Given the description of an element on the screen output the (x, y) to click on. 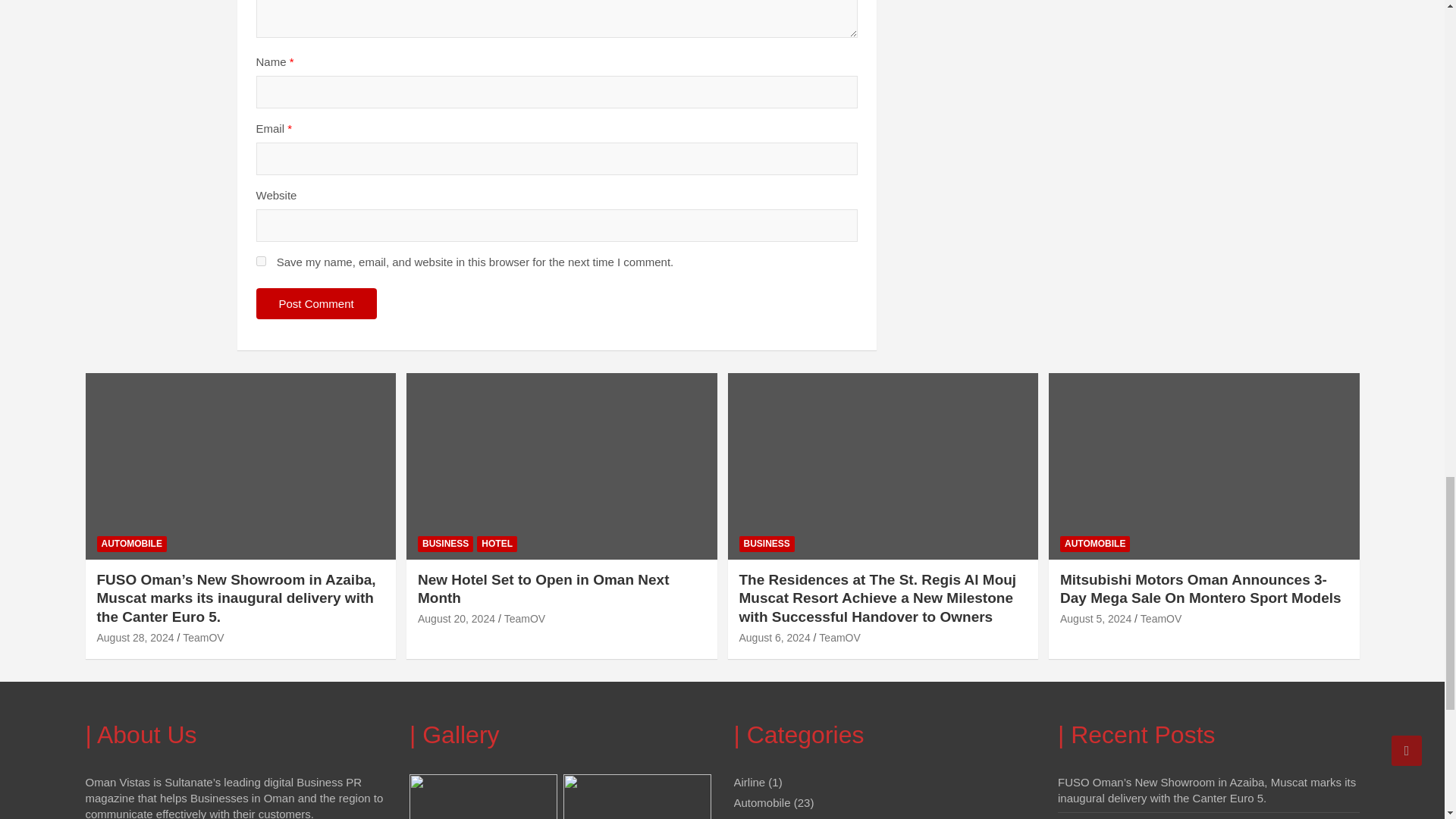
yes (261, 261)
New Hotel Set to Open in Oman Next Month (456, 618)
Post Comment (316, 303)
Post Comment (316, 303)
